Given the description of an element on the screen output the (x, y) to click on. 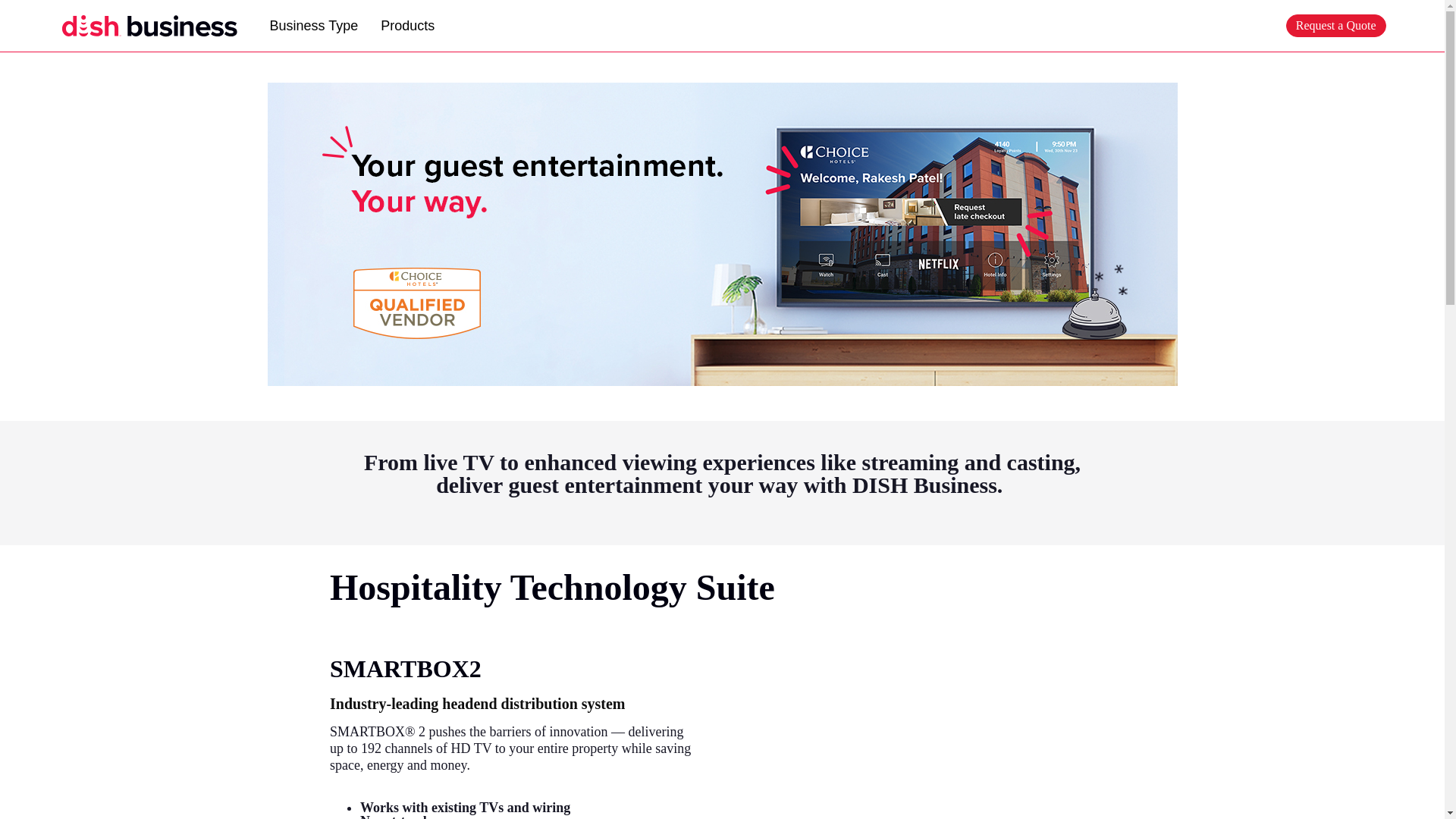
HubSpot Video (931, 759)
Request a Quote (1335, 25)
Business Type (313, 25)
DISH Network (151, 25)
Products (407, 25)
